Given the description of an element on the screen output the (x, y) to click on. 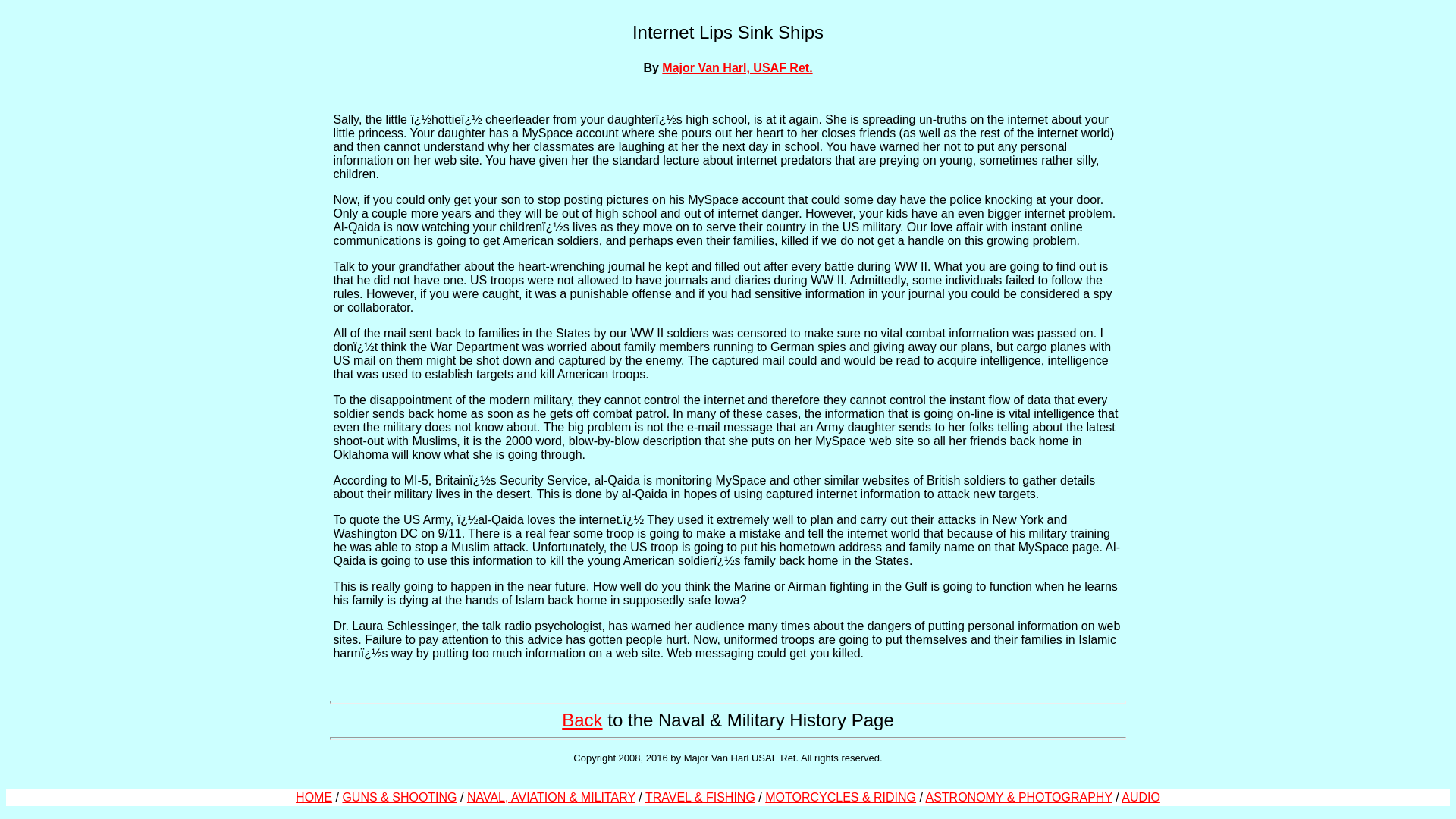
AUDIO (1140, 797)
Back (582, 720)
Major Van Harl, USAF Ret. (737, 67)
HOME (313, 797)
